Given the description of an element on the screen output the (x, y) to click on. 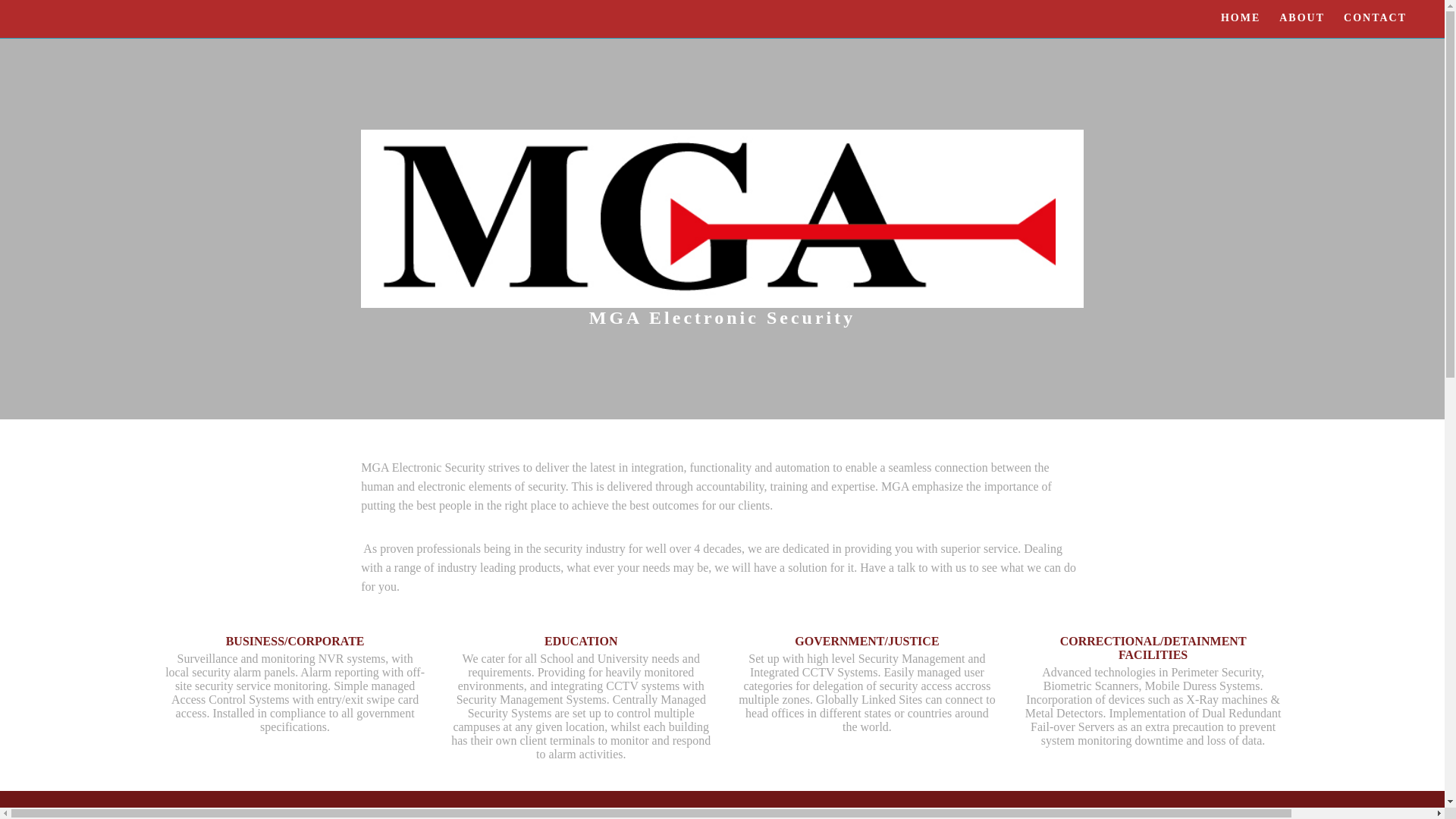
HOME Element type: text (1240, 17)
ABOUT Element type: text (1301, 17)
CONTACT Element type: text (1374, 17)
